Given the description of an element on the screen output the (x, y) to click on. 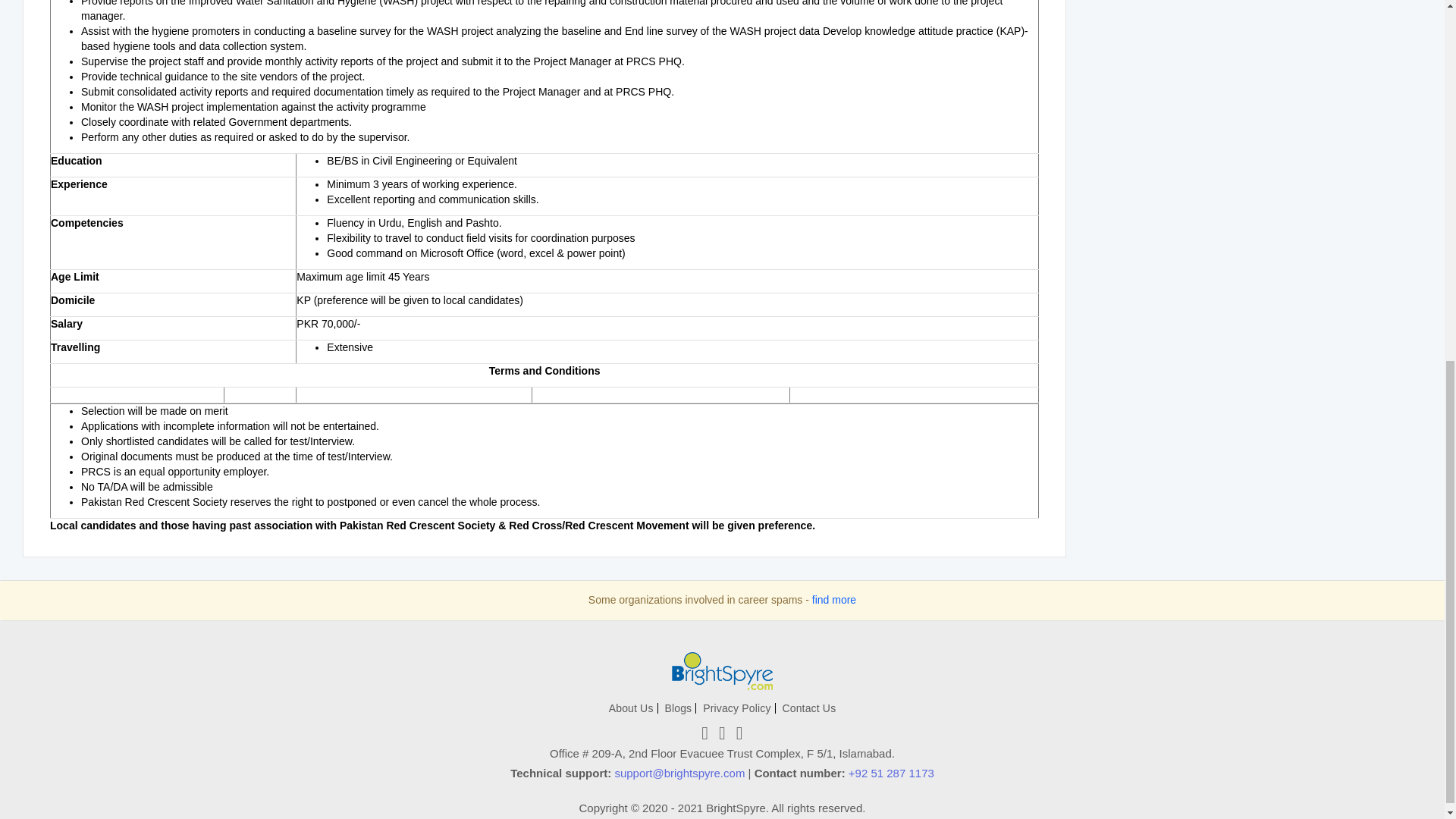
Blogs (677, 707)
Contact Us (808, 707)
Know about BrightSpyre (630, 707)
Brightspyre Blogs (677, 707)
List of career spam organizations (834, 599)
About Us (630, 707)
Policy for Users (736, 707)
Contact BrightSpyre (808, 707)
Privacy Policy (736, 707)
find more (834, 599)
